Given the description of an element on the screen output the (x, y) to click on. 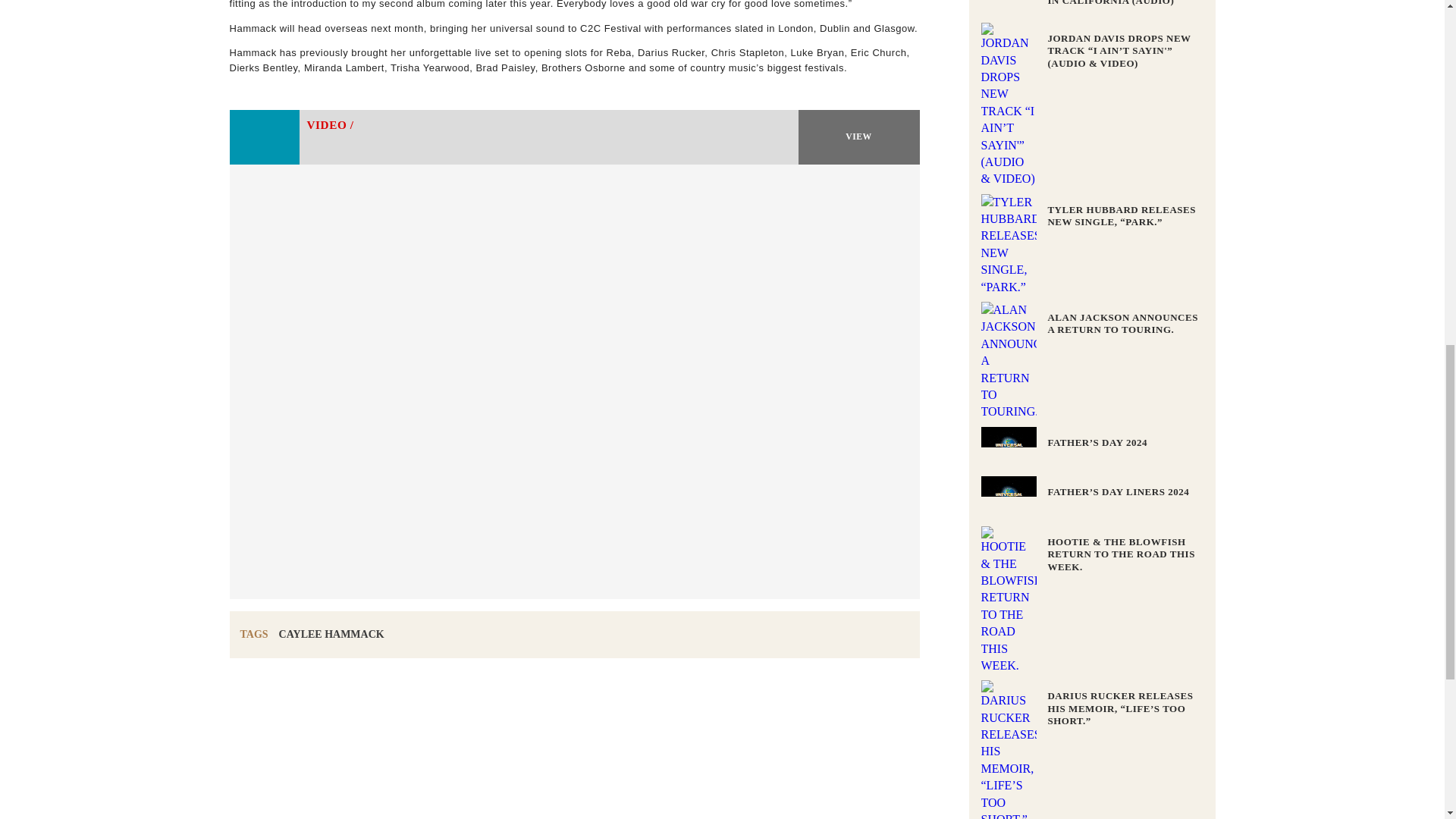
ALAN JACKSON ANNOUNCES A RETURN TO TOURING. (1122, 323)
CAYLEE HAMMACK (331, 633)
VIEW (857, 136)
